Given the description of an element on the screen output the (x, y) to click on. 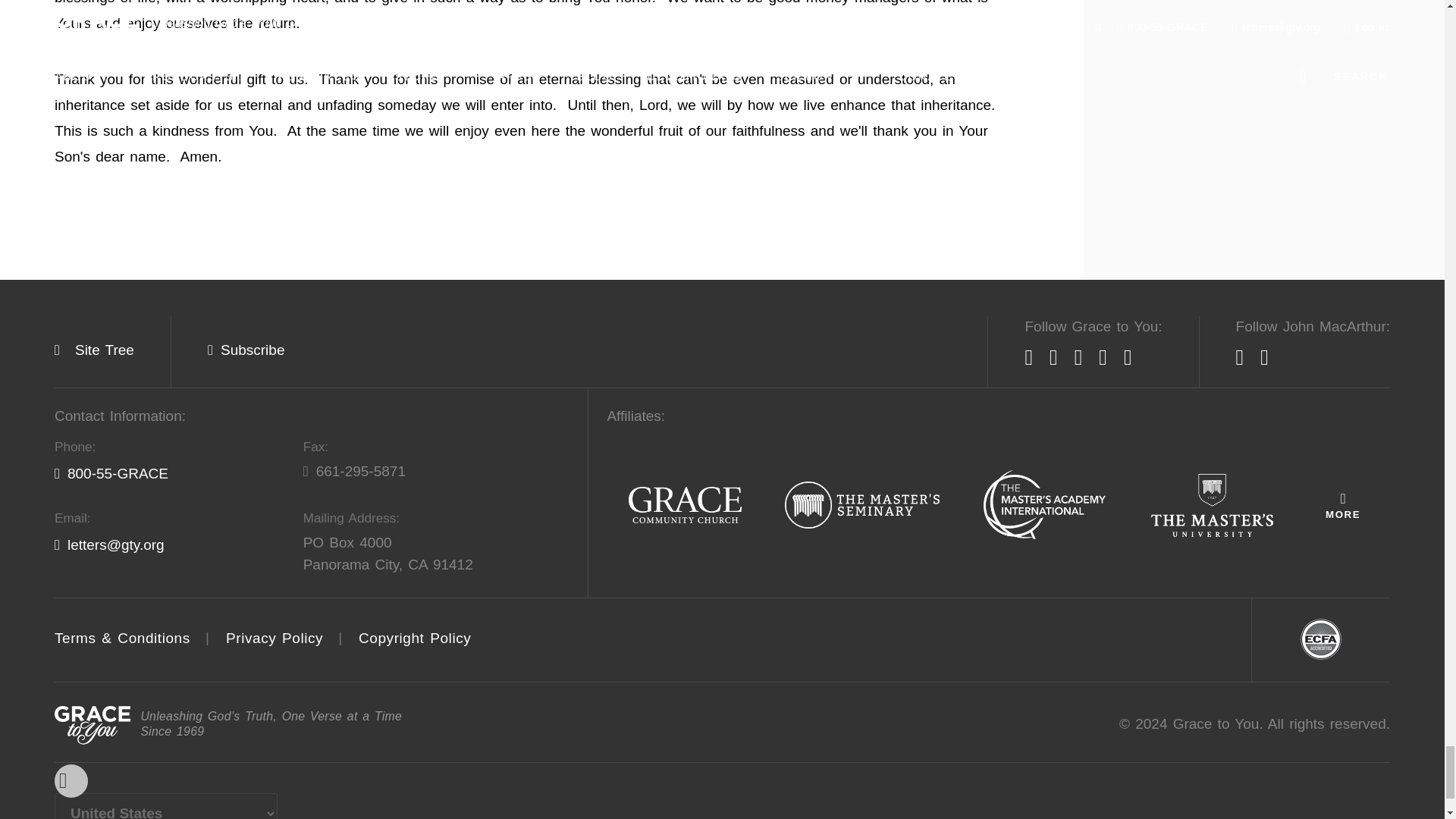
Grace Community Church (684, 505)
The Master' Seminary (862, 505)
Grace-to-You (93, 724)
The Master' Academy International (1044, 505)
More Affiliates (1341, 505)
The Master' University (1211, 505)
